Given the description of an element on the screen output the (x, y) to click on. 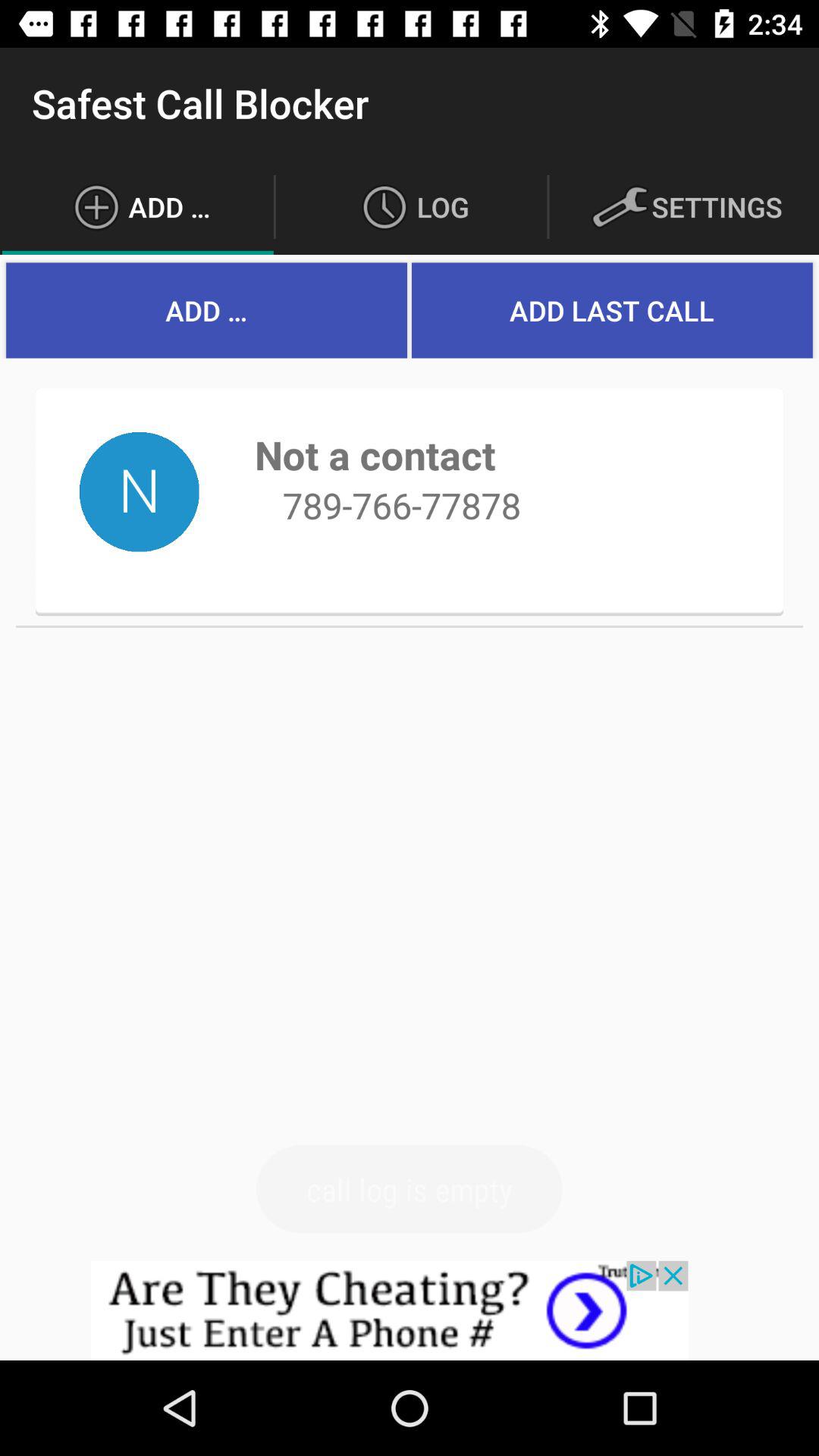
view advertisement (409, 1310)
